Given the description of an element on the screen output the (x, y) to click on. 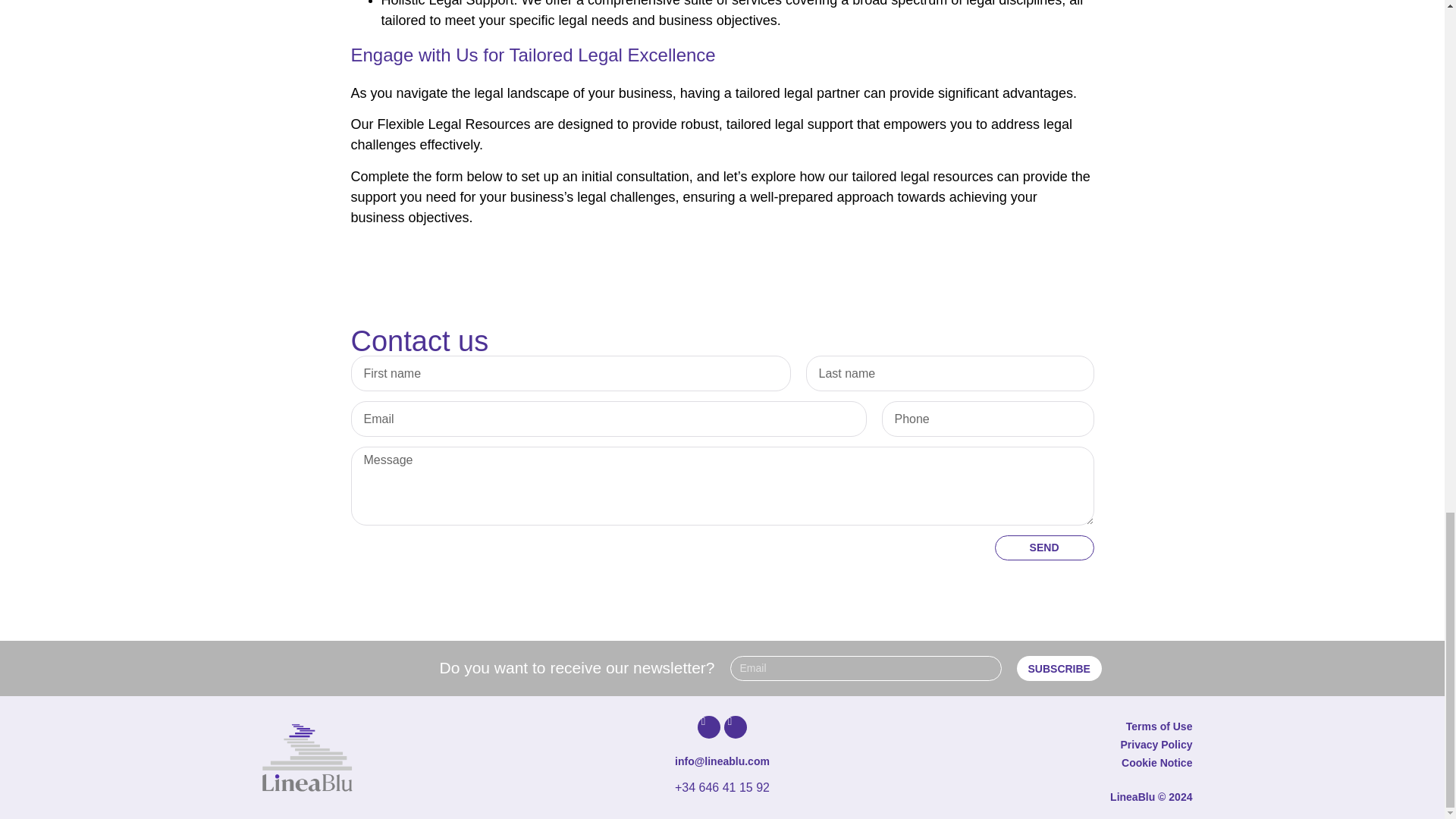
Privacy Policy (1156, 744)
Cookie Notice (1156, 762)
SUBSCRIBE (1058, 668)
Terms of Use (1158, 726)
SEND (1044, 547)
